Given the description of an element on the screen output the (x, y) to click on. 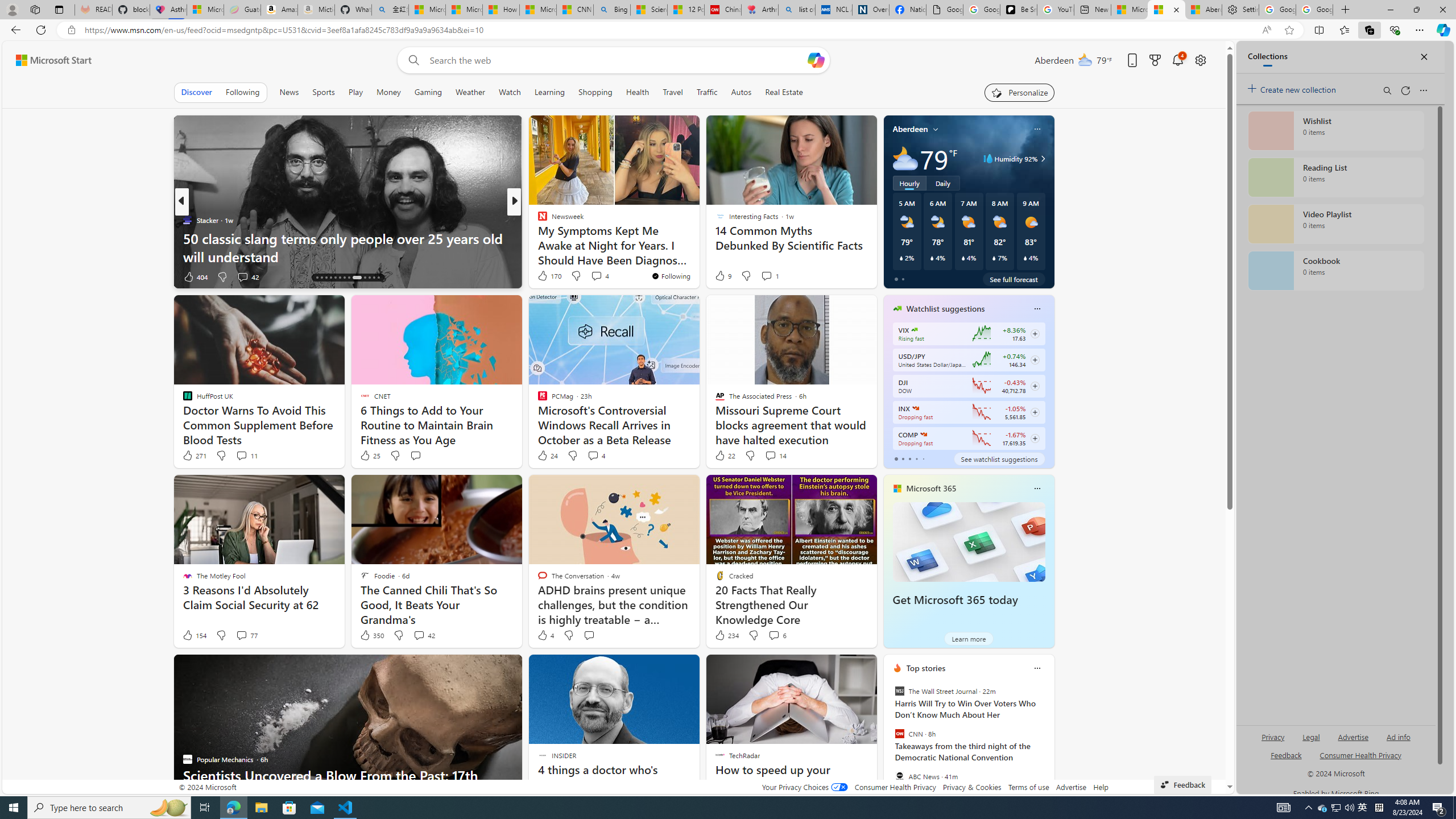
My location (936, 128)
Class: weather-current-precipitation-glyph (1024, 257)
271 Like (193, 455)
Stacker (187, 219)
Get Microsoft 365 today (968, 541)
350 Like (370, 634)
